Given the description of an element on the screen output the (x, y) to click on. 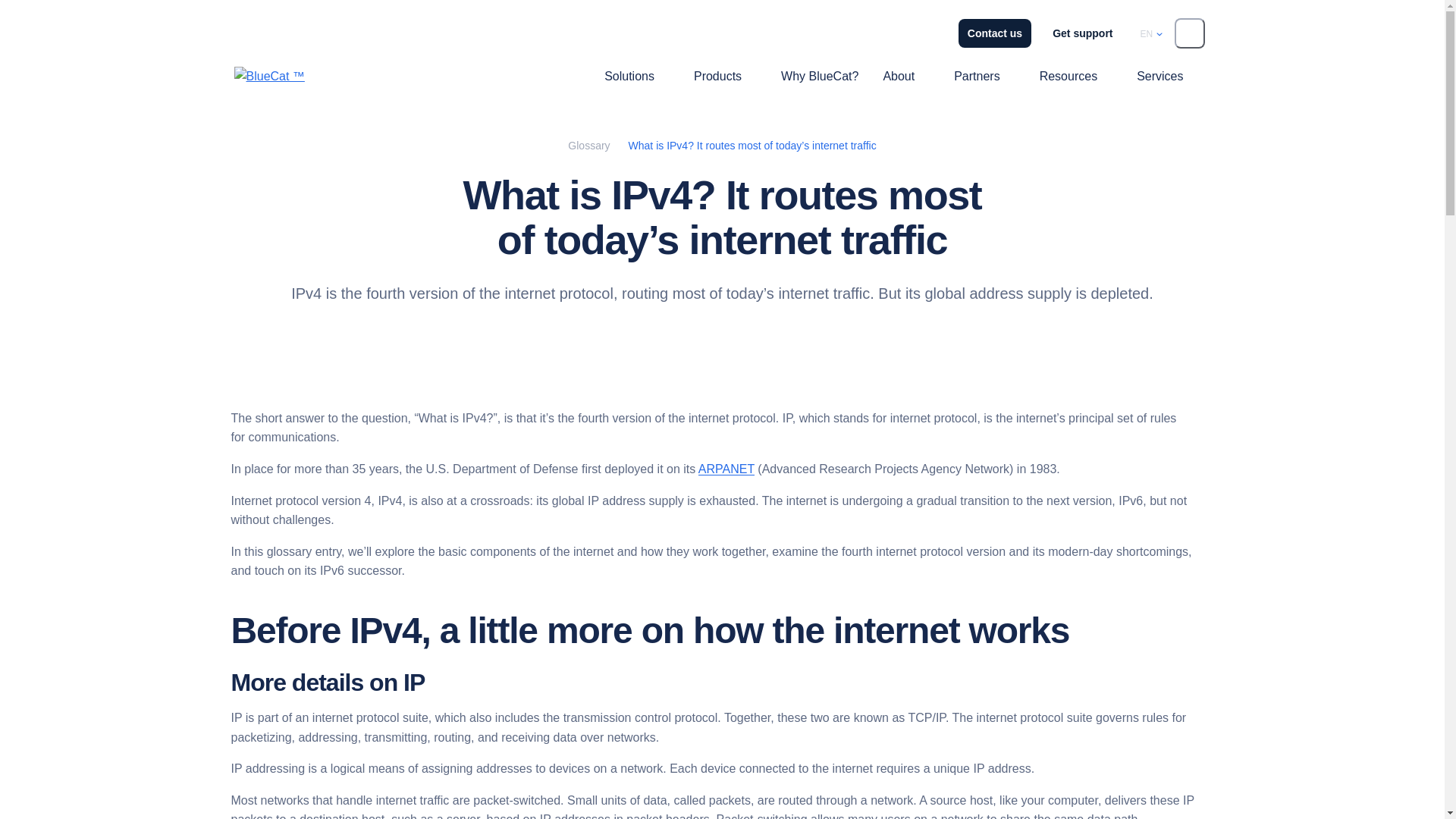
Resources (1068, 76)
Toggle nav dropdown (928, 76)
Products (717, 76)
Toggle nav dropdown (928, 76)
Toggle nav dropdown (668, 76)
About (898, 76)
Toggle nav dropdown (1110, 76)
Partners (976, 76)
Toggle nav dropdown (1014, 76)
Toggle nav dropdown (668, 76)
